Given the description of an element on the screen output the (x, y) to click on. 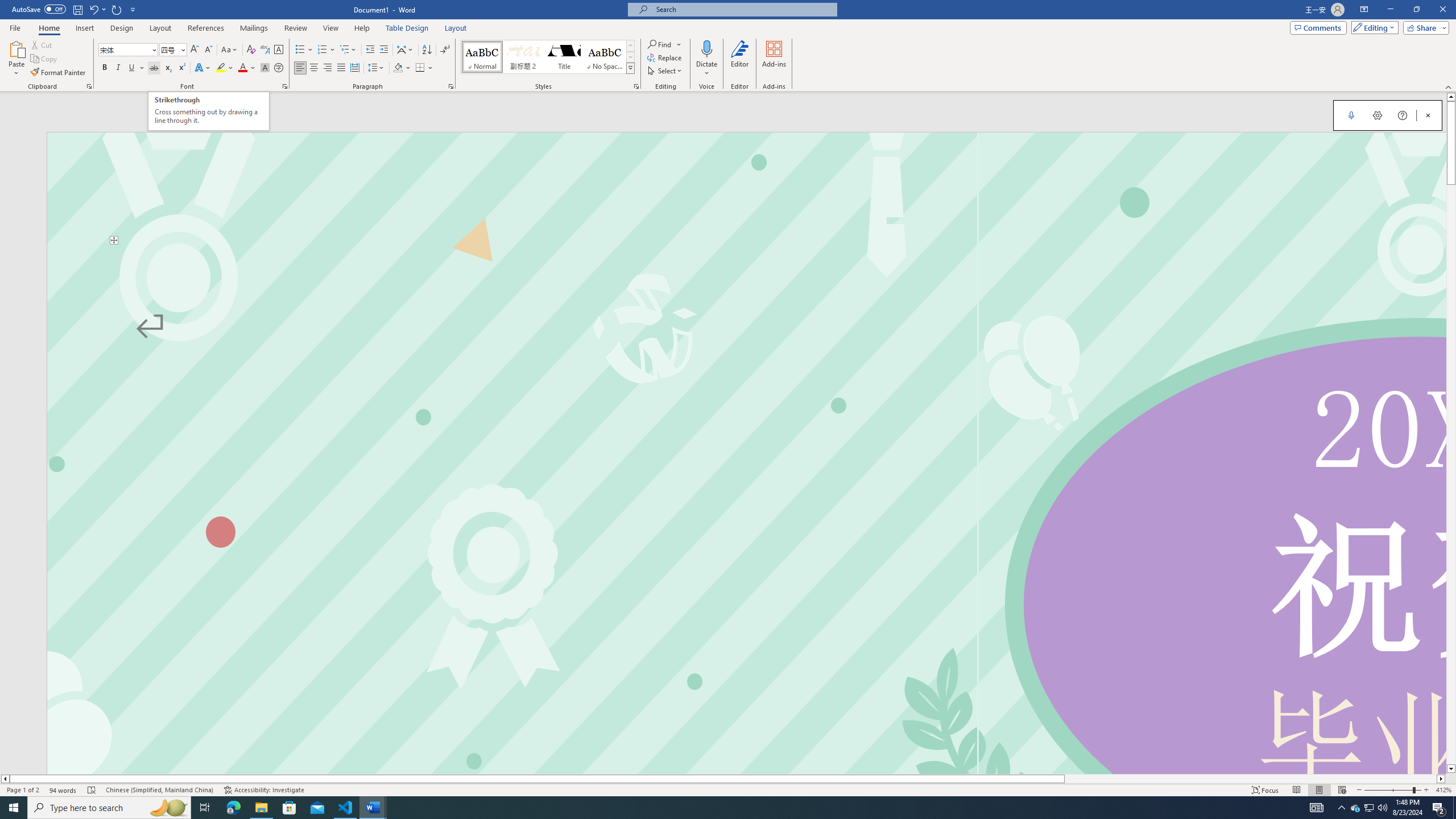
Undo Text Fill Effect (92, 9)
Page Number Page 1 of 2 (22, 790)
Column left (5, 778)
